Given the description of an element on the screen output the (x, y) to click on. 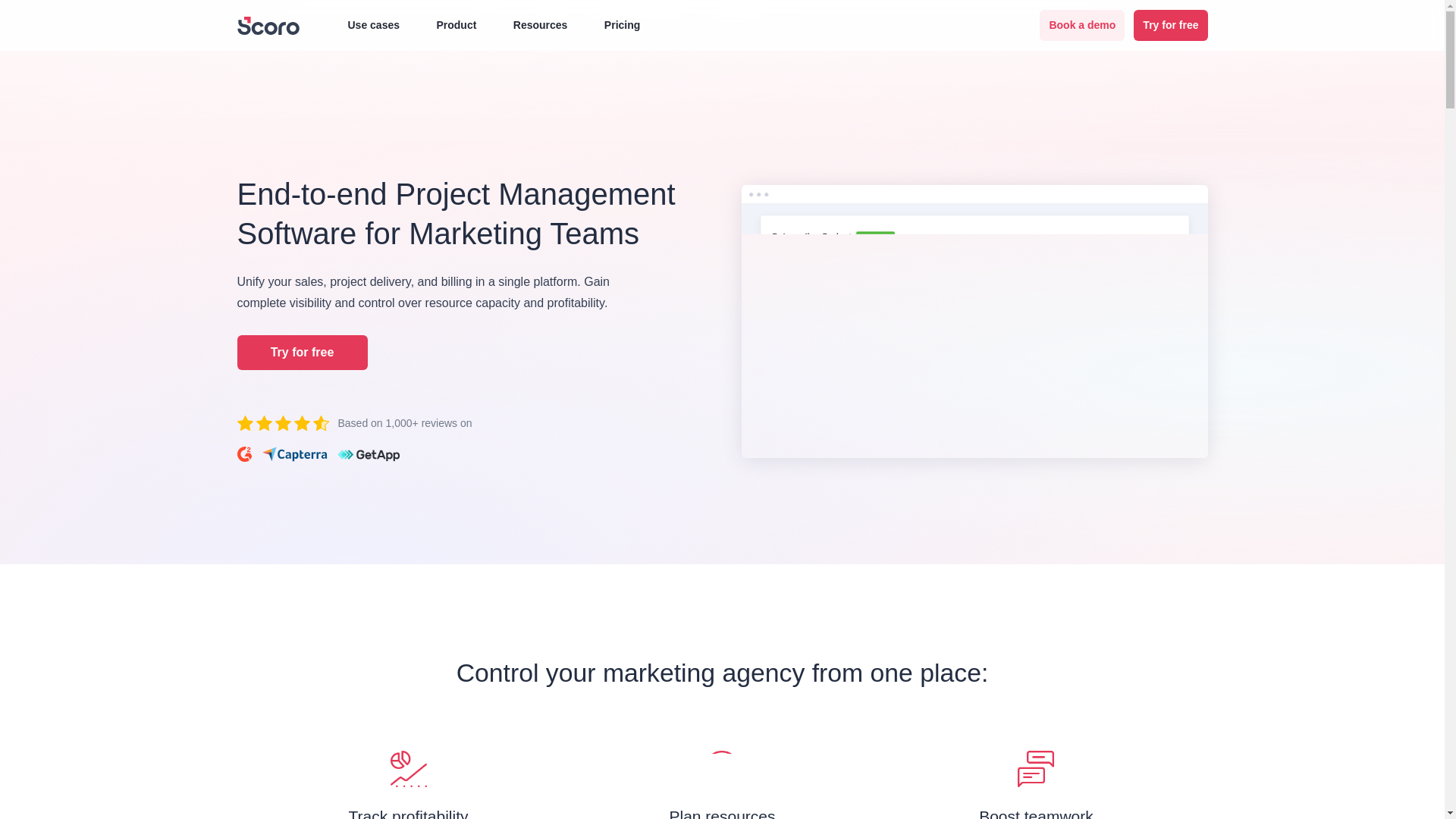
Resources (533, 25)
Product (449, 25)
Try for free (1170, 24)
Use cases (366, 25)
Pricing (622, 25)
Book a demo (1081, 24)
